Given the description of an element on the screen output the (x, y) to click on. 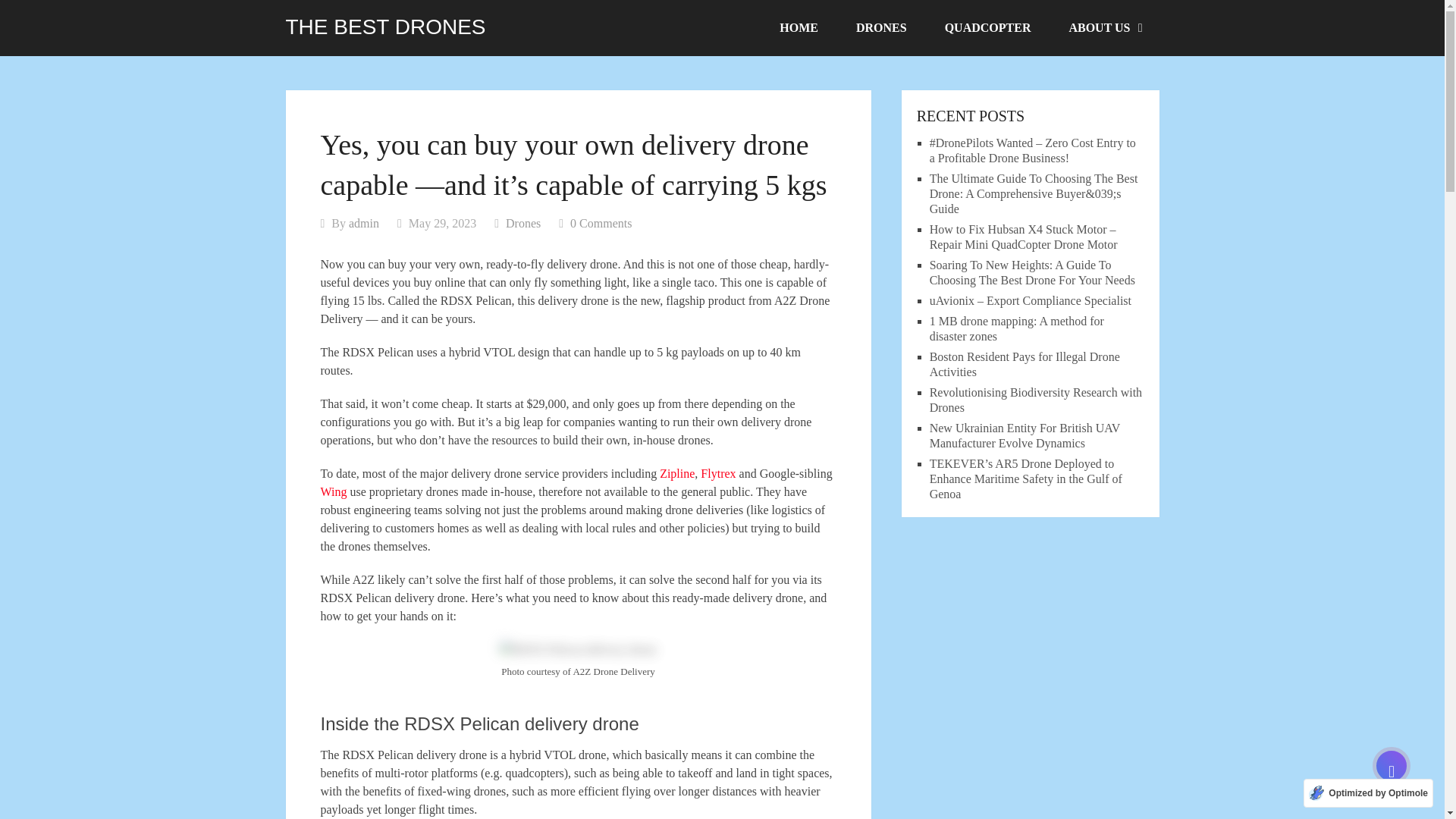
1 MB drone mapping: A method for disaster zones (1016, 328)
HOME (798, 28)
Posts by admin (363, 223)
Flytrex (717, 472)
admin (363, 223)
Wing (333, 491)
Revolutionising Biodiversity Research with Drones (1035, 399)
ABOUT US (1103, 28)
QUADCOPTER (987, 28)
Zipline (676, 472)
